Given the description of an element on the screen output the (x, y) to click on. 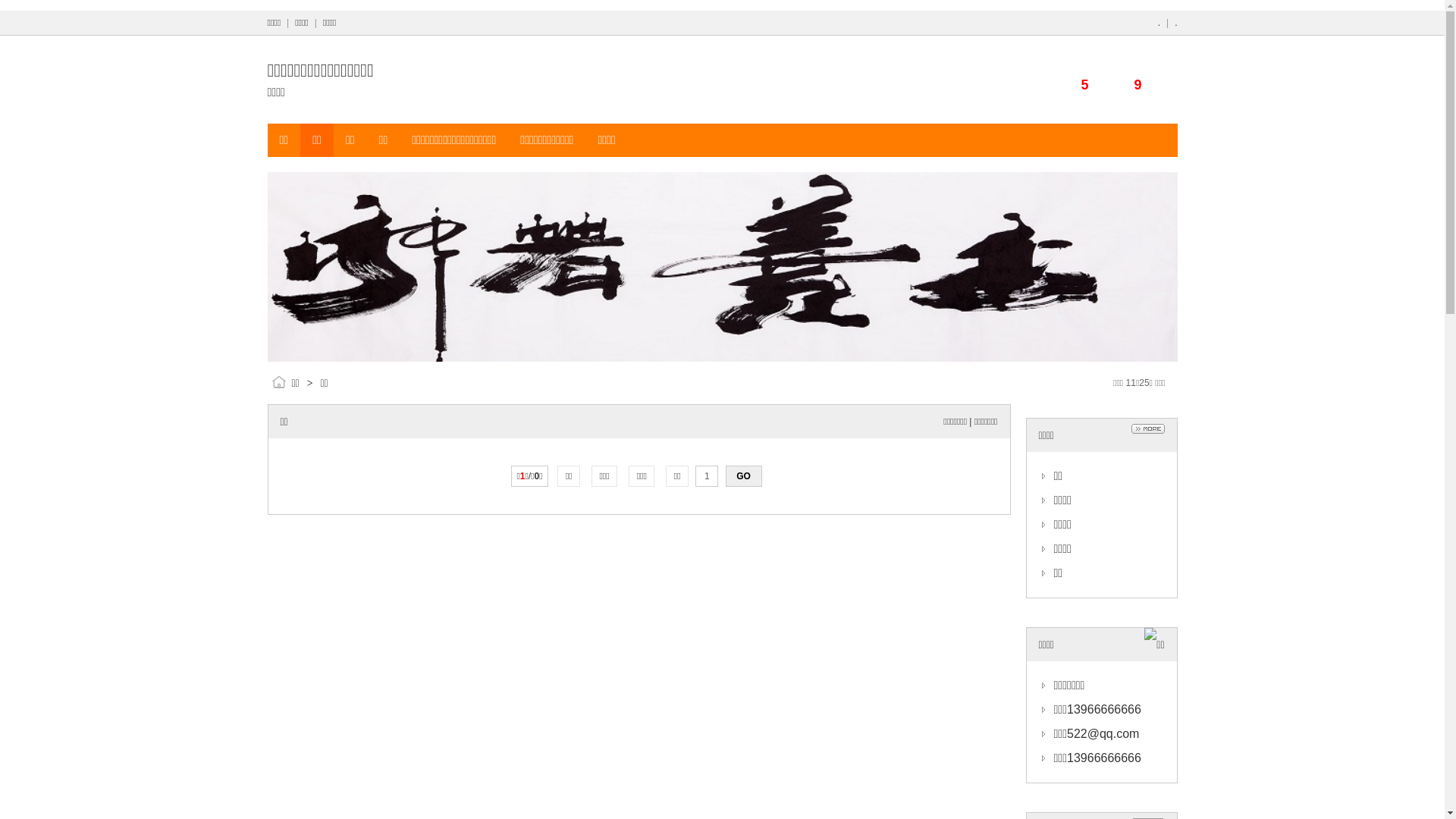
GO Element type: text (743, 475)
. Element type: text (1175, 22)
. Element type: text (1158, 22)
